Given the description of an element on the screen output the (x, y) to click on. 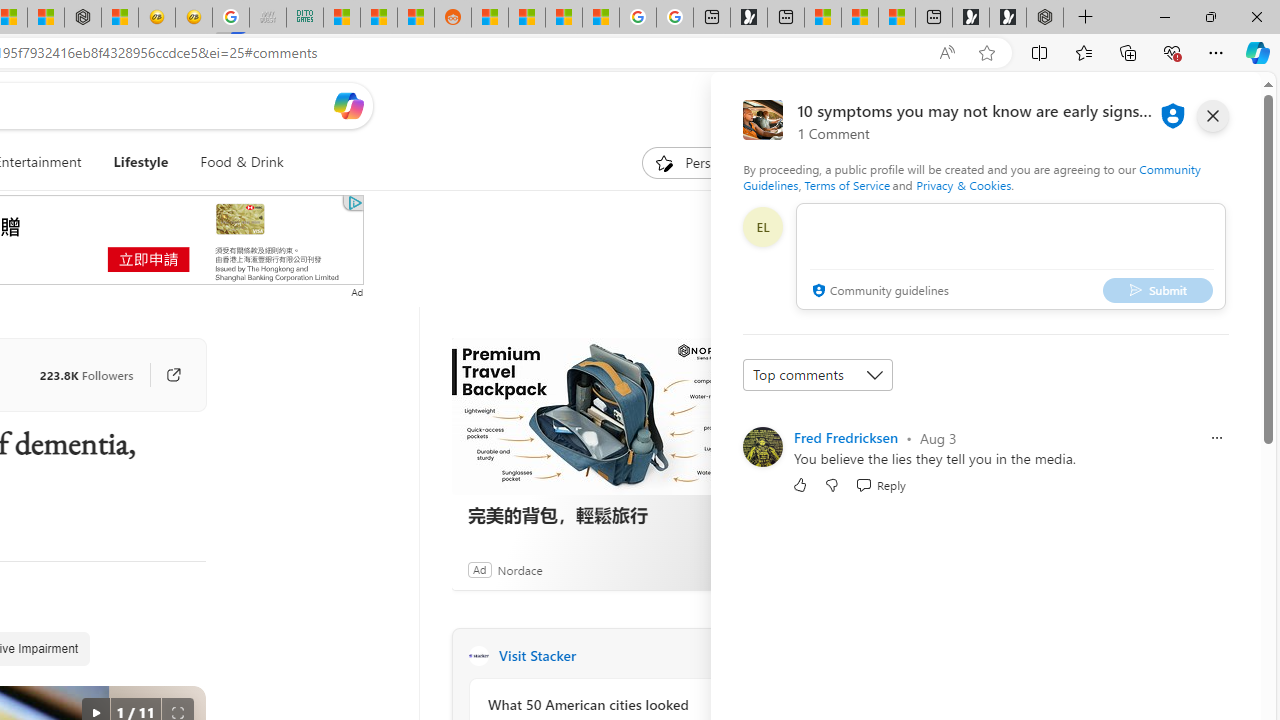
Community guidelines (878, 291)
Navy Quest (267, 17)
Lifestyle (140, 162)
Nordace (519, 569)
Personalize (703, 162)
Report comment (1216, 437)
MSNBC - MSN (341, 17)
Class: qc-adchoices-link top-right  (353, 202)
Profile Picture (762, 446)
These 3 Stocks Pay You More Than 5% to Own Them (897, 17)
Nordace - #1 Japanese Best-Seller - Siena Smart Backpack (83, 17)
Submit (1158, 290)
